Given the description of an element on the screen output the (x, y) to click on. 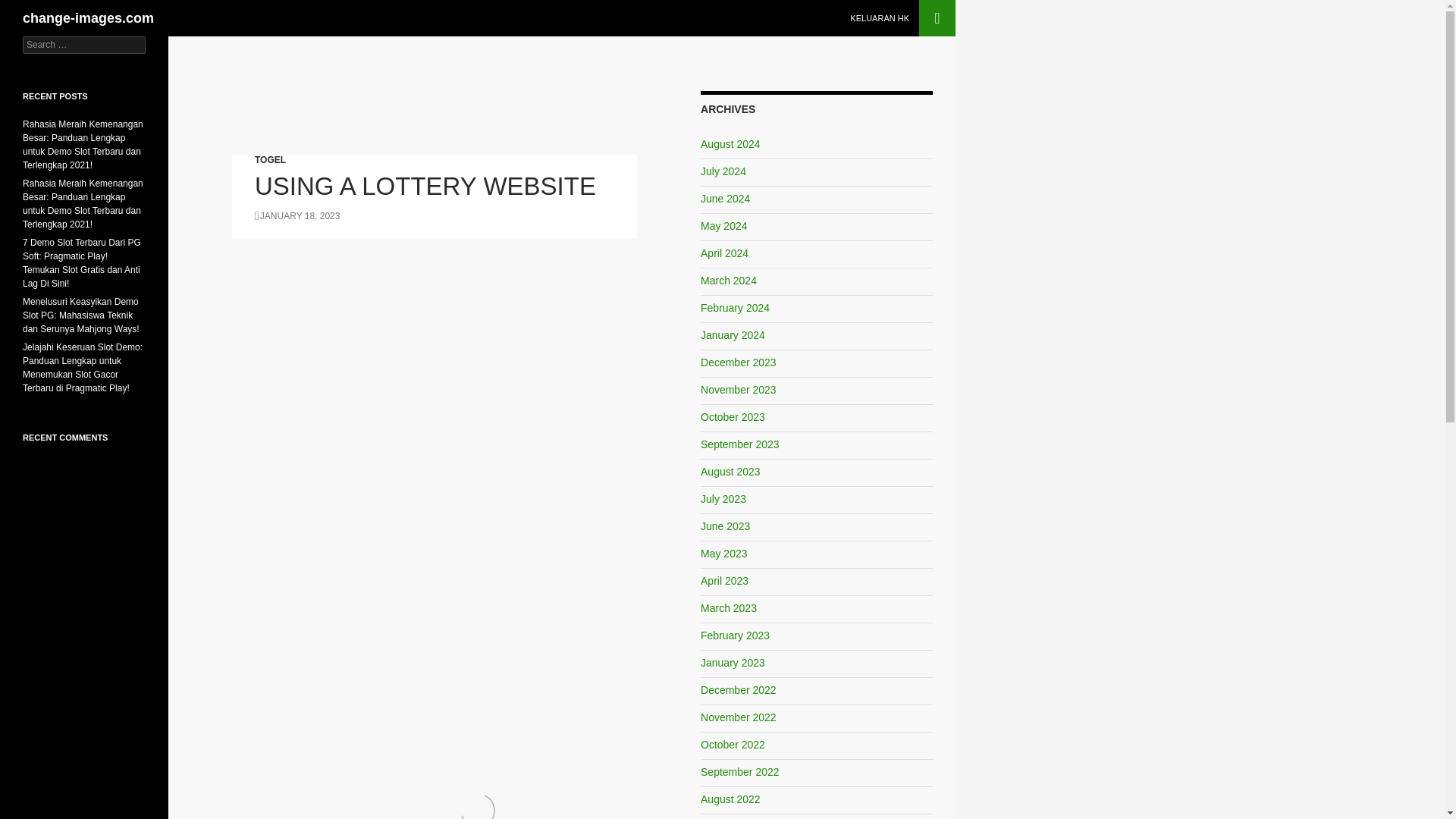
April 2024 (724, 253)
JANUARY 18, 2023 (296, 215)
May 2024 (723, 225)
KELUARAN HK (879, 18)
TOGEL (269, 159)
February 2024 (735, 307)
January 2024 (732, 335)
March 2024 (728, 280)
USING A LOTTERY WEBSITE (424, 185)
September 2023 (739, 444)
